Given the description of an element on the screen output the (x, y) to click on. 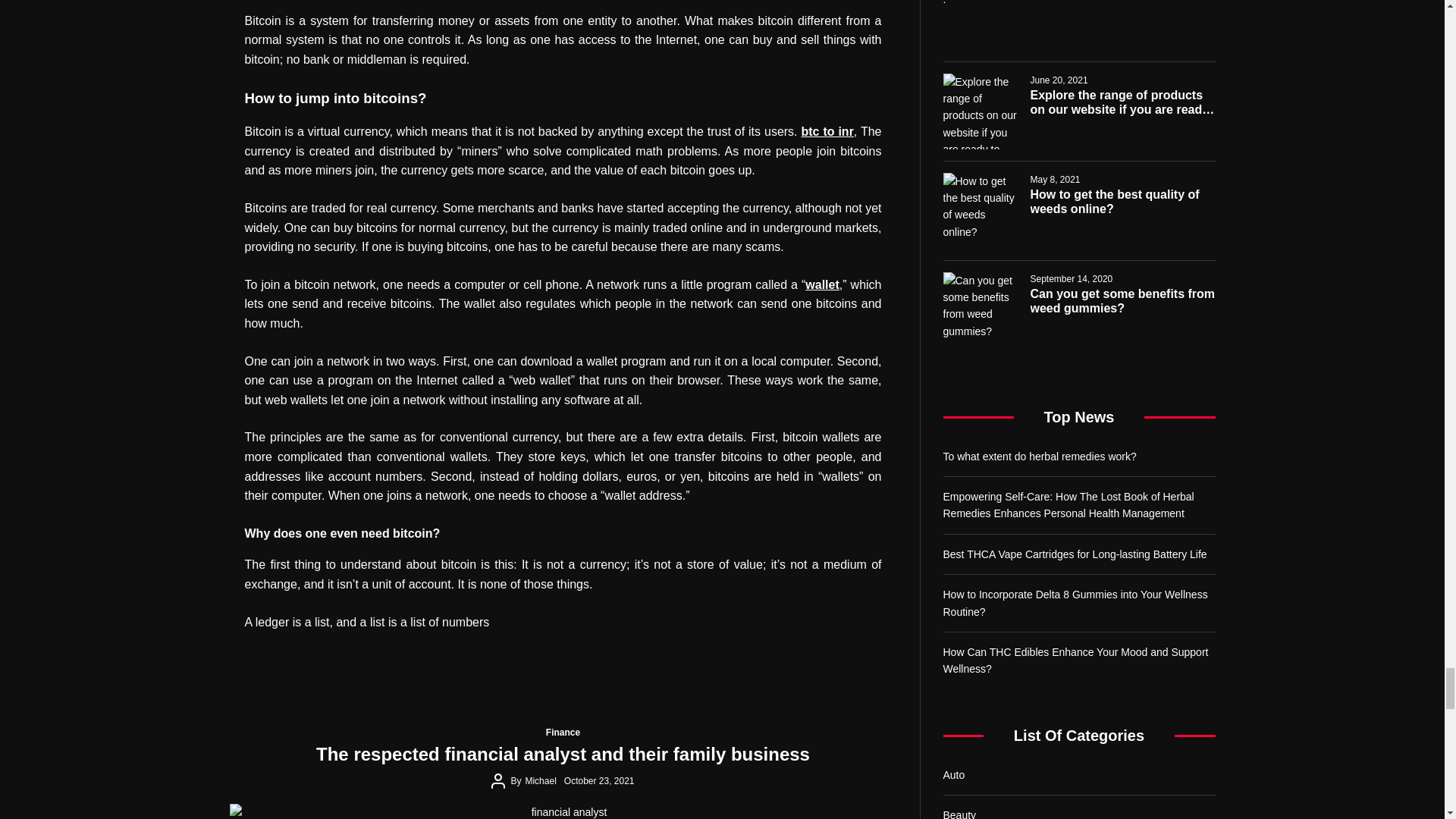
The respected financial analyst and their family business (562, 811)
